Given the description of an element on the screen output the (x, y) to click on. 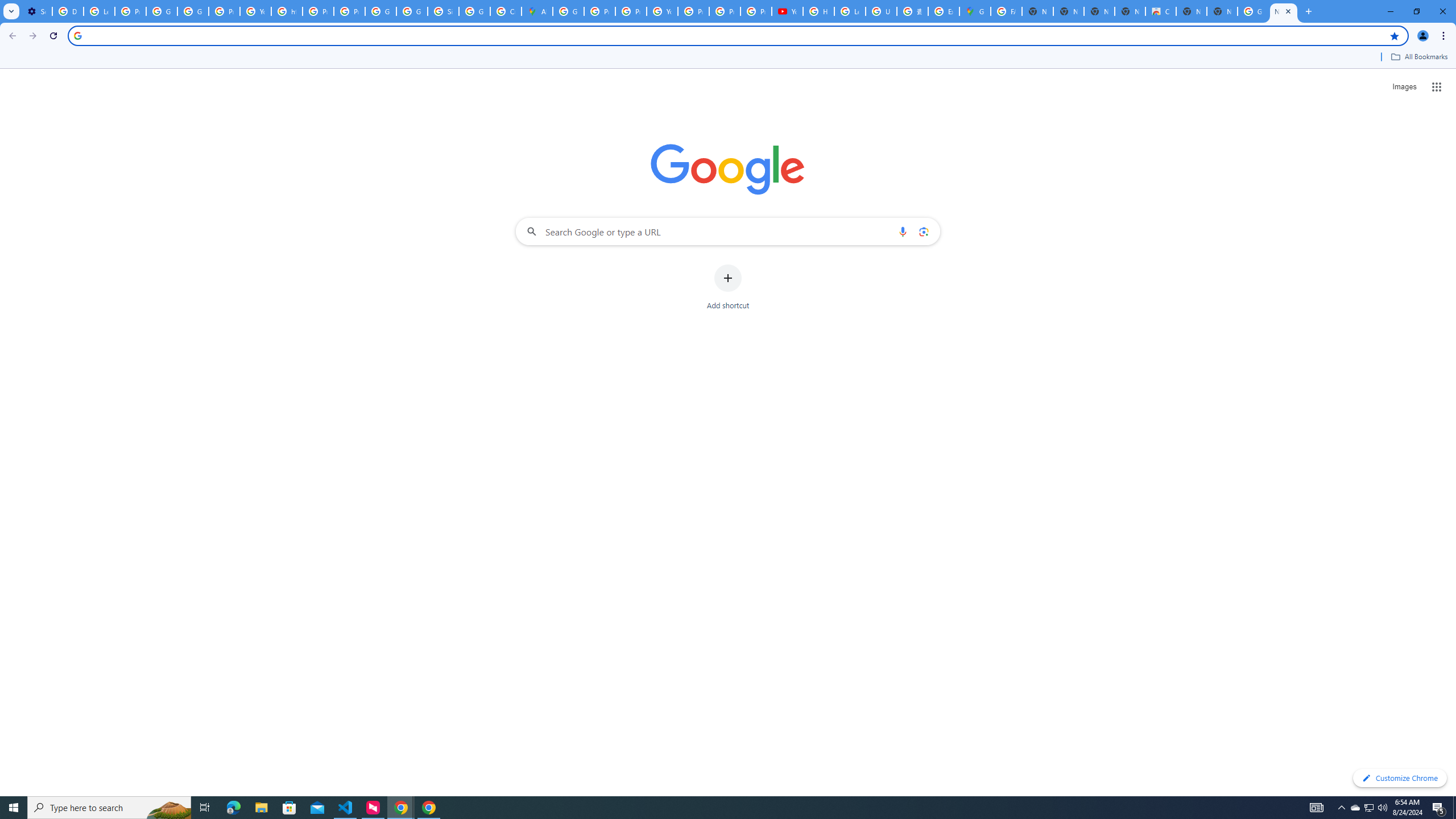
Google Images (1252, 11)
Google Maps (974, 11)
https://scholar.google.com/ (286, 11)
YouTube (787, 11)
Explore new street-level details - Google Maps Help (943, 11)
Add shortcut (727, 287)
